Given the description of an element on the screen output the (x, y) to click on. 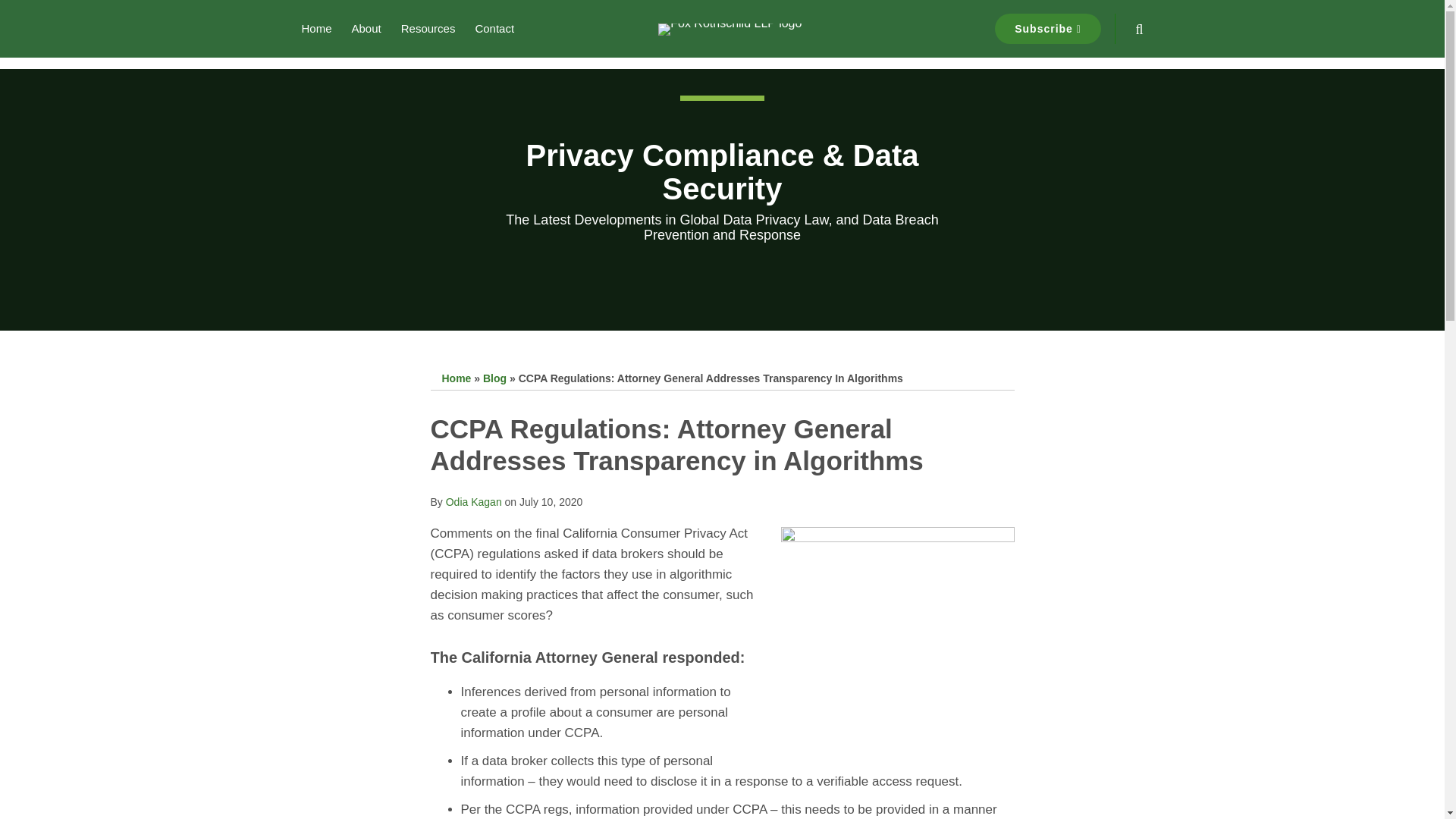
Resources (428, 28)
Odia Kagan (473, 501)
Contact (493, 28)
About (366, 28)
Blog (494, 378)
Home (455, 378)
Home (316, 28)
Subscribe (1047, 28)
